Given the description of an element on the screen output the (x, y) to click on. 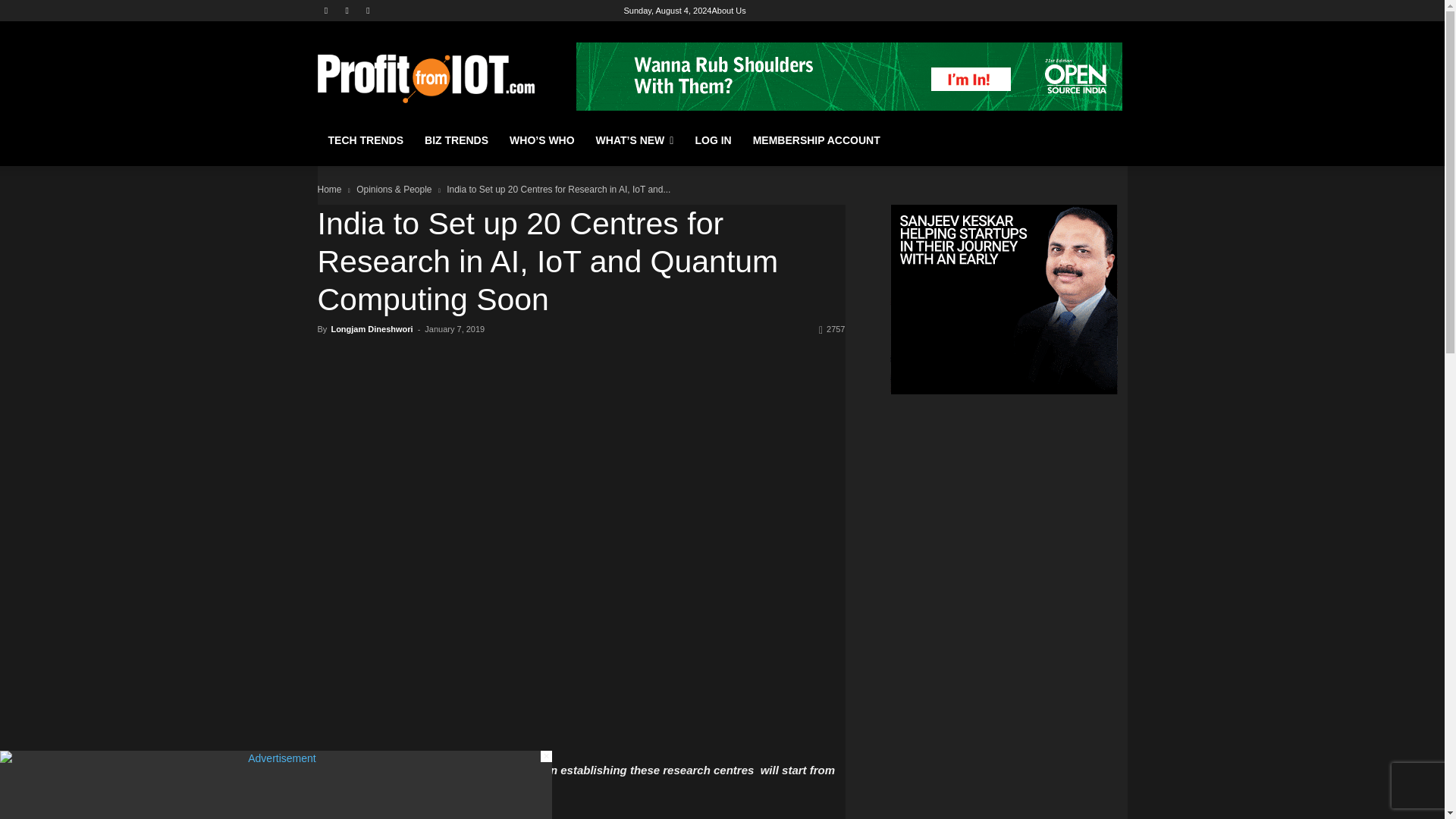
MEMBERSHIP ACCOUNT (816, 140)
Longjam Dineshwori (371, 328)
Twitter (368, 9)
BIZ TRENDS (456, 140)
Facebook (325, 9)
Home (328, 189)
About Us (728, 10)
Instagram (346, 9)
TECH TRENDS (365, 140)
LOG IN (712, 140)
